Given the description of an element on the screen output the (x, y) to click on. 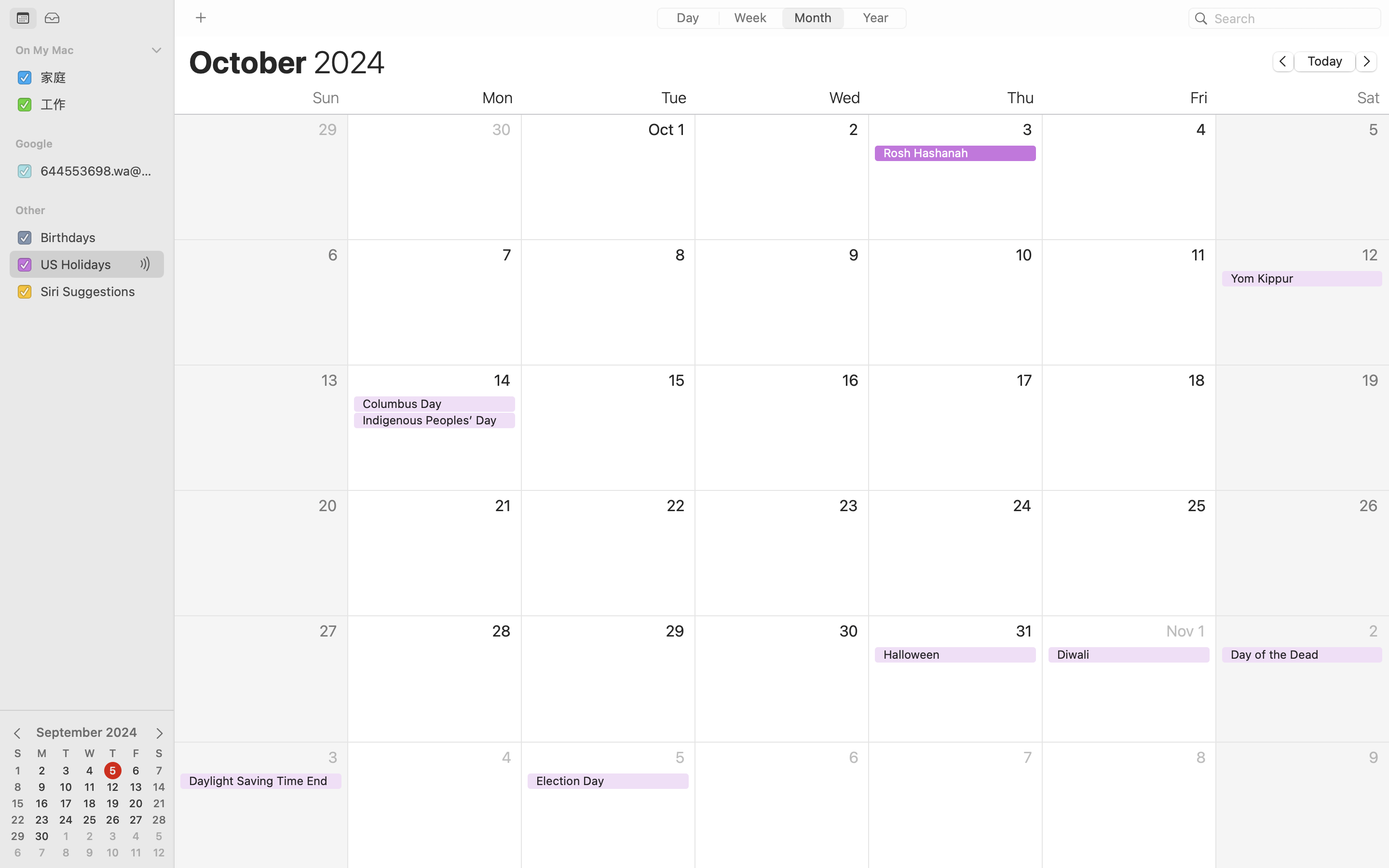
27 Element type: AXStaticText (135, 820)
<AXUIElement 0x125c4b100> {pid=1173} Element type: AXRadioGroup (37, 18)
8 Element type: AXStaticText (17, 787)
5 Element type: AXStaticText (112, 770)
